Given the description of an element on the screen output the (x, y) to click on. 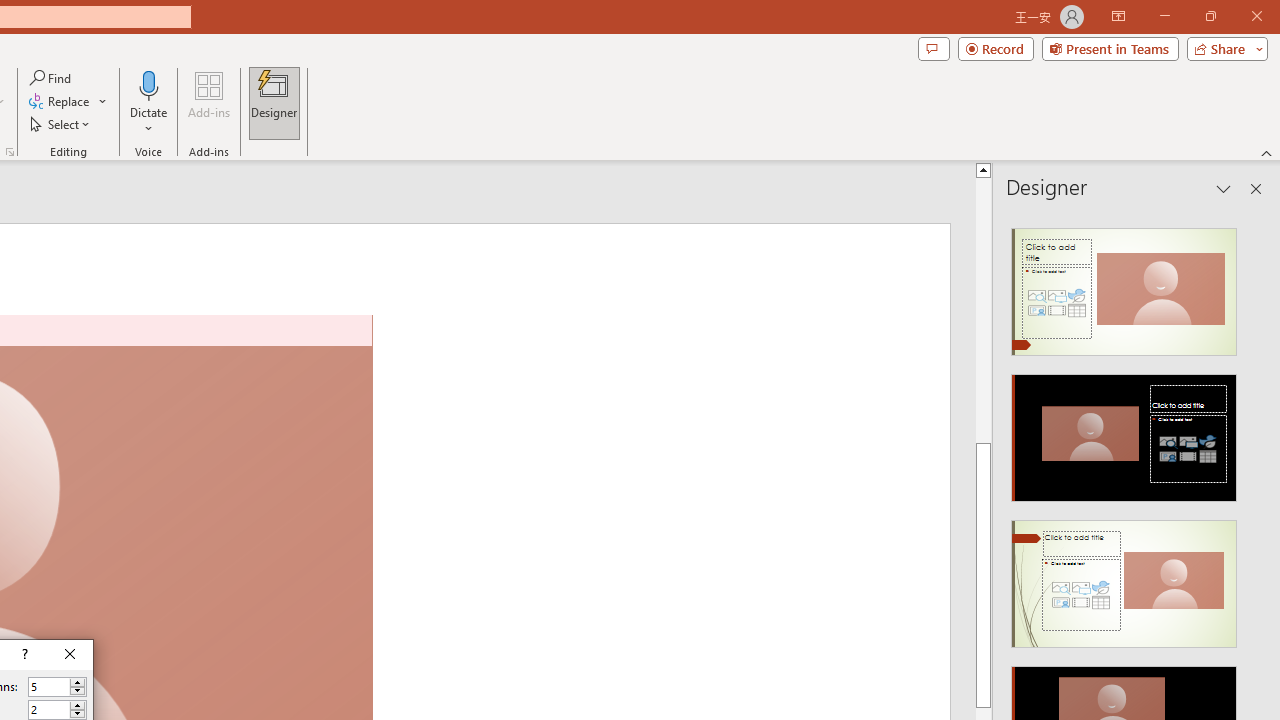
Number of rows (57, 709)
